Given the description of an element on the screen output the (x, y) to click on. 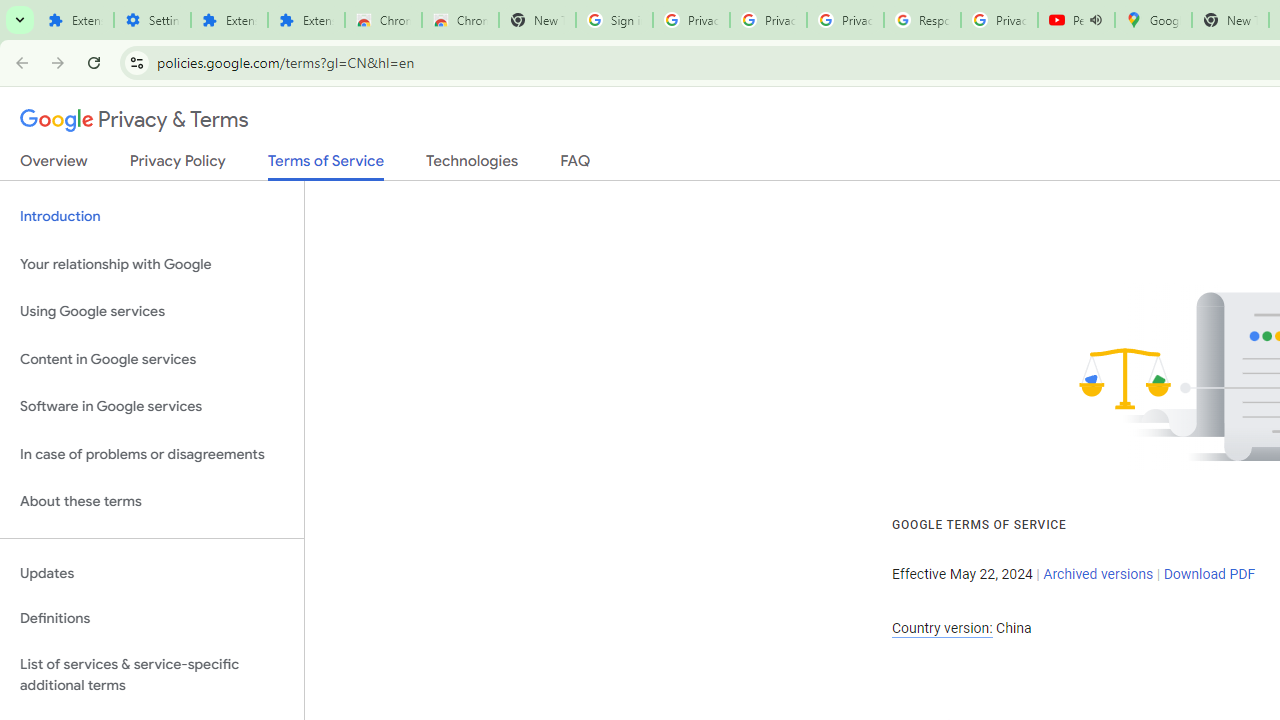
In case of problems or disagreements (152, 453)
Extensions (228, 20)
Your relationship with Google (152, 263)
Personalized AI for you | Gemini - YouTube - Audio playing (1076, 20)
About these terms (152, 502)
Archived versions (1098, 574)
Chrome Web Store (383, 20)
